Given the description of an element on the screen output the (x, y) to click on. 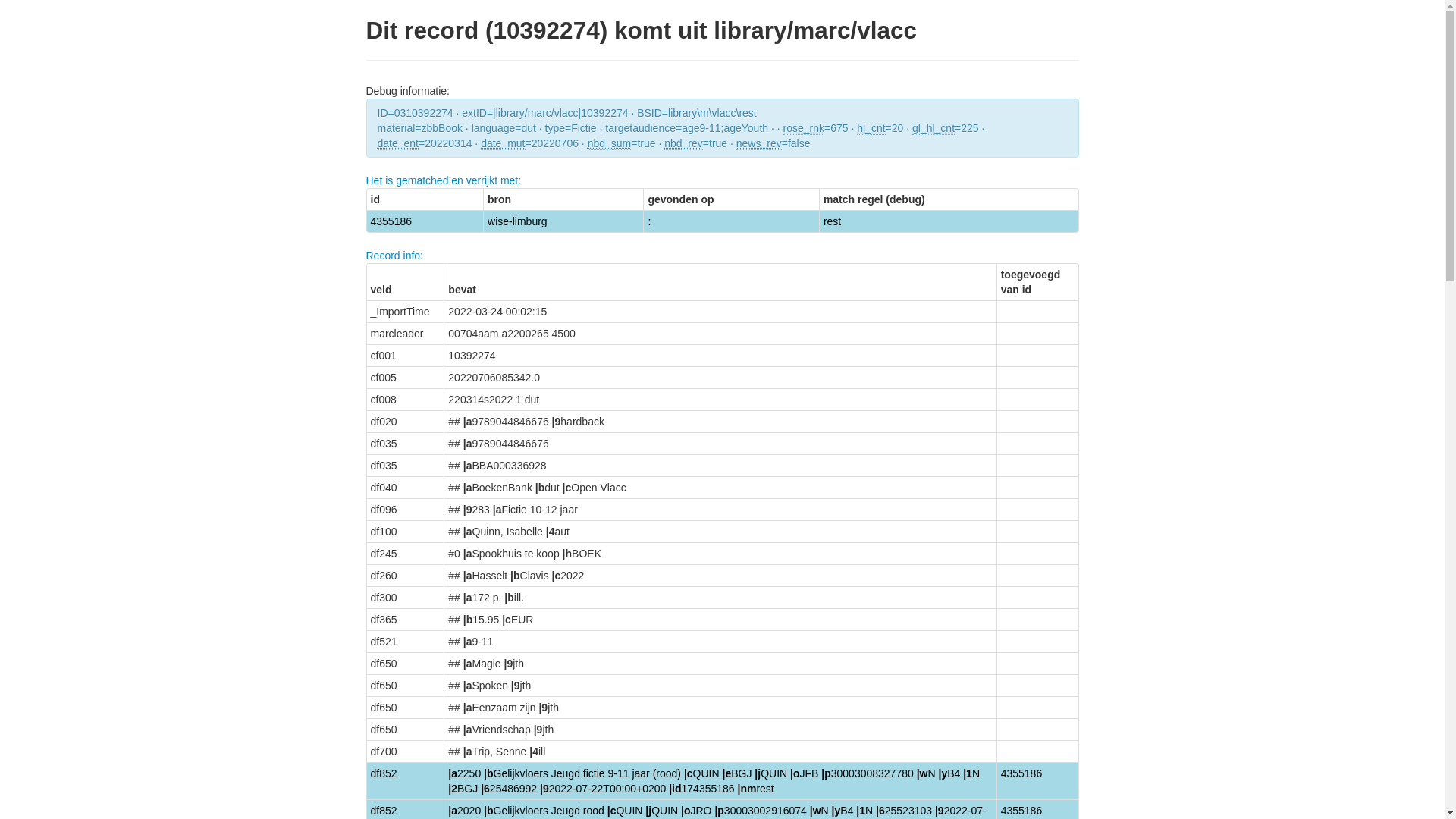
Het is gematched en verrijkt met: Element type: text (442, 180)
Record info: Element type: text (393, 255)
